Given the description of an element on the screen output the (x, y) to click on. 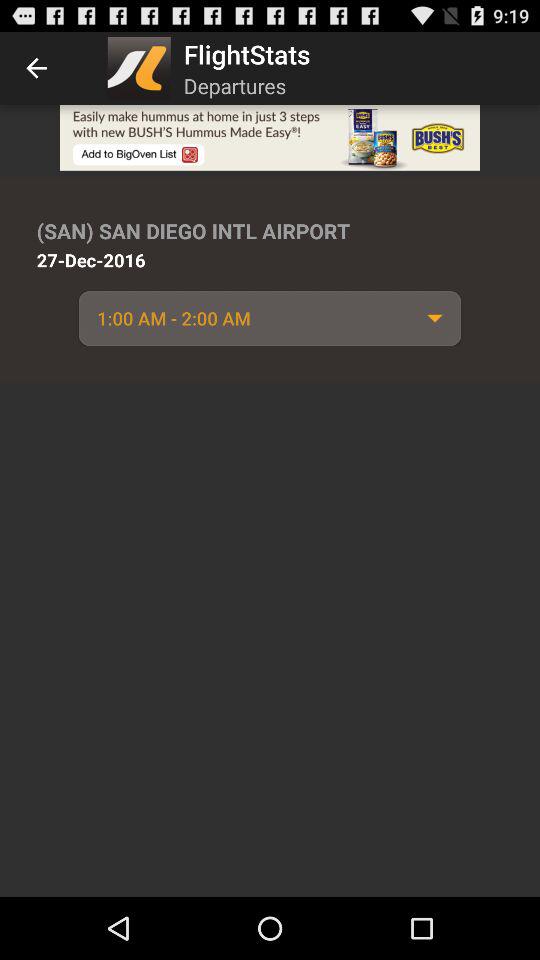
advertisement image (270, 137)
